Given the description of an element on the screen output the (x, y) to click on. 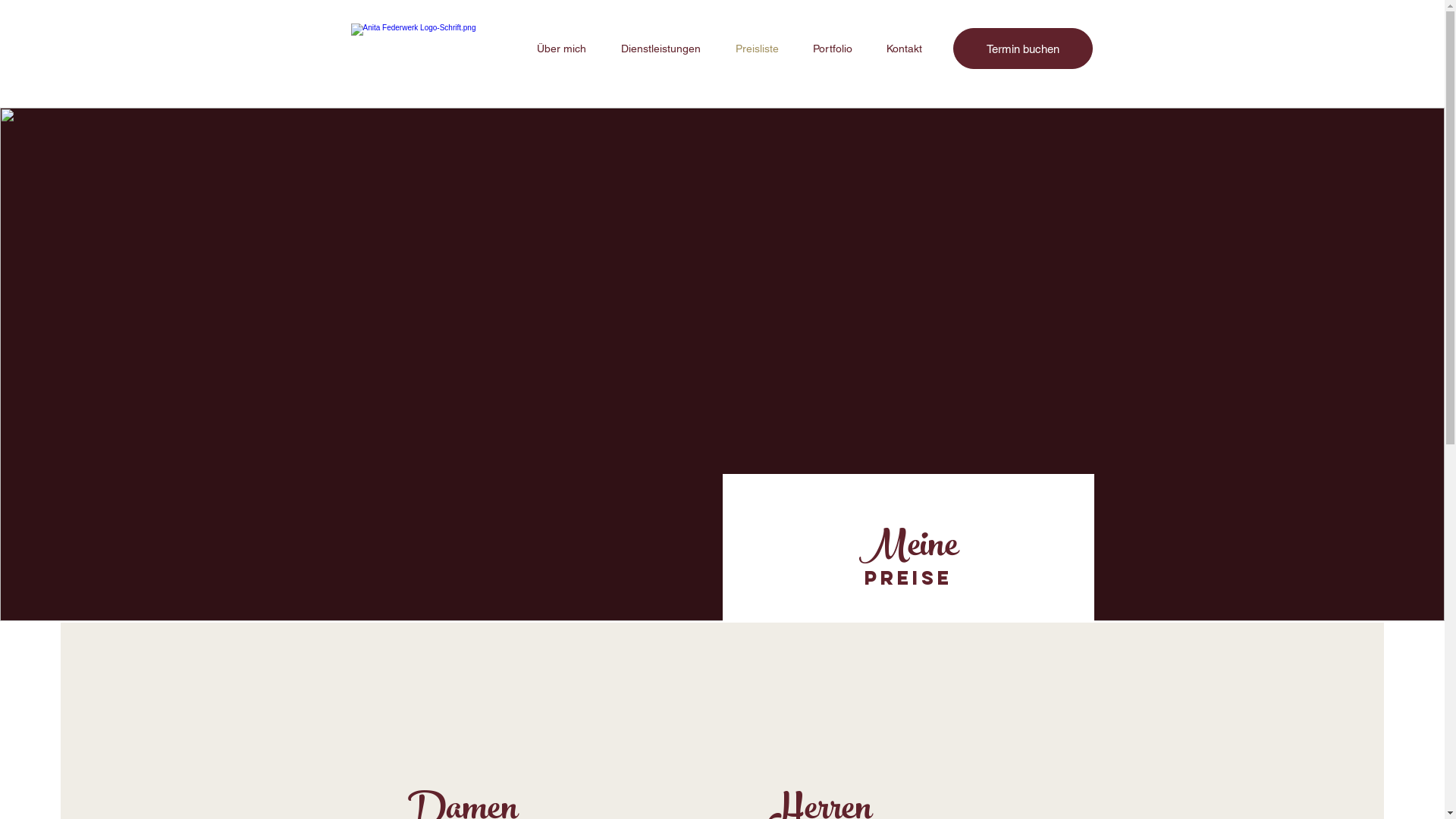
Termin buchen Element type: text (1022, 48)
Portfolio Element type: text (832, 48)
Preisliste Element type: text (756, 48)
Kontakt Element type: text (903, 48)
Dienstleistungen Element type: text (660, 48)
